Given the description of an element on the screen output the (x, y) to click on. 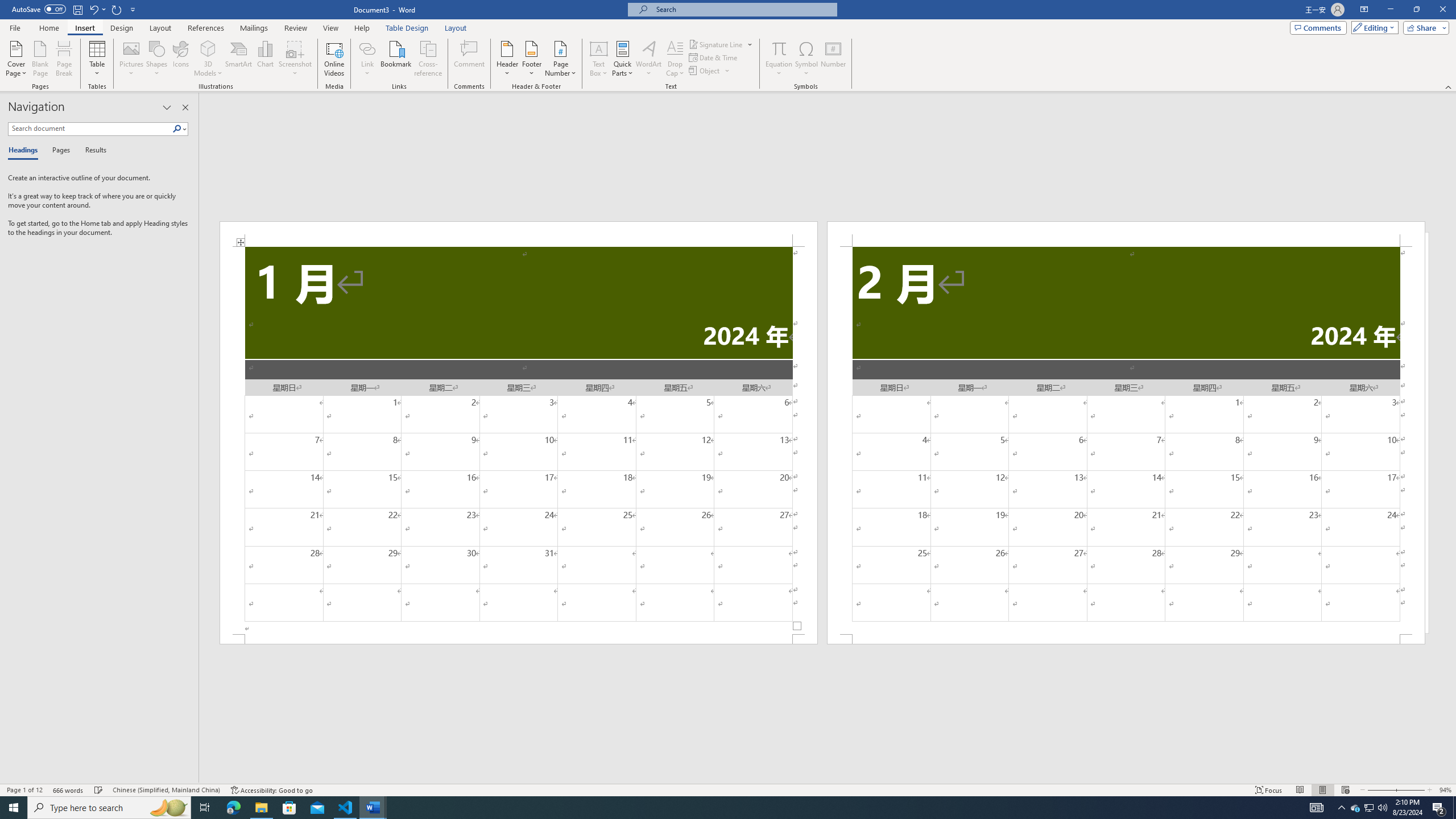
Page Break (63, 58)
Quick Parts (622, 58)
Bookmark... (396, 58)
Table (97, 58)
